Given the description of an element on the screen output the (x, y) to click on. 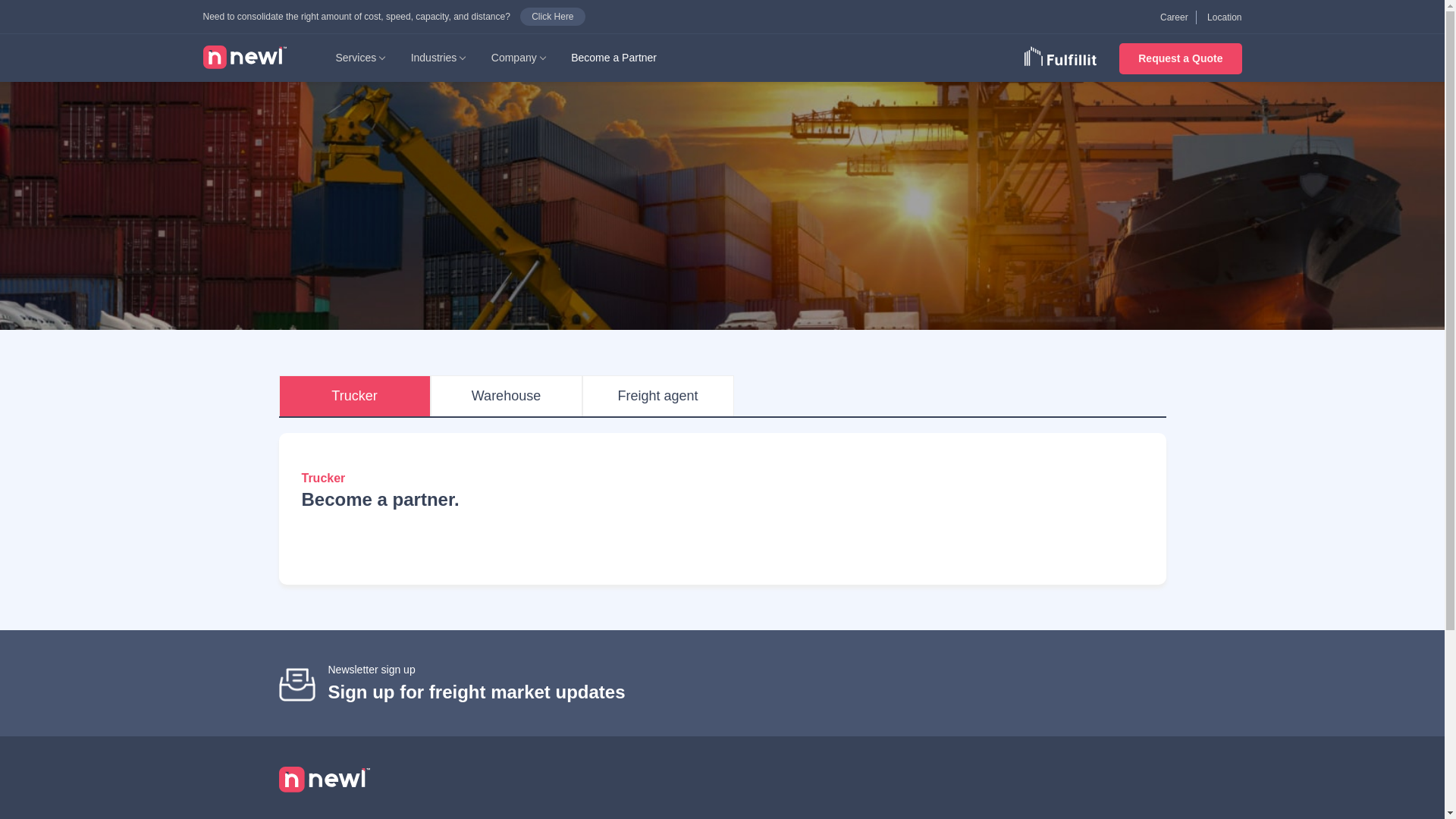
Career (1174, 17)
Click Here (552, 16)
Location (1224, 17)
